Given the description of an element on the screen output the (x, y) to click on. 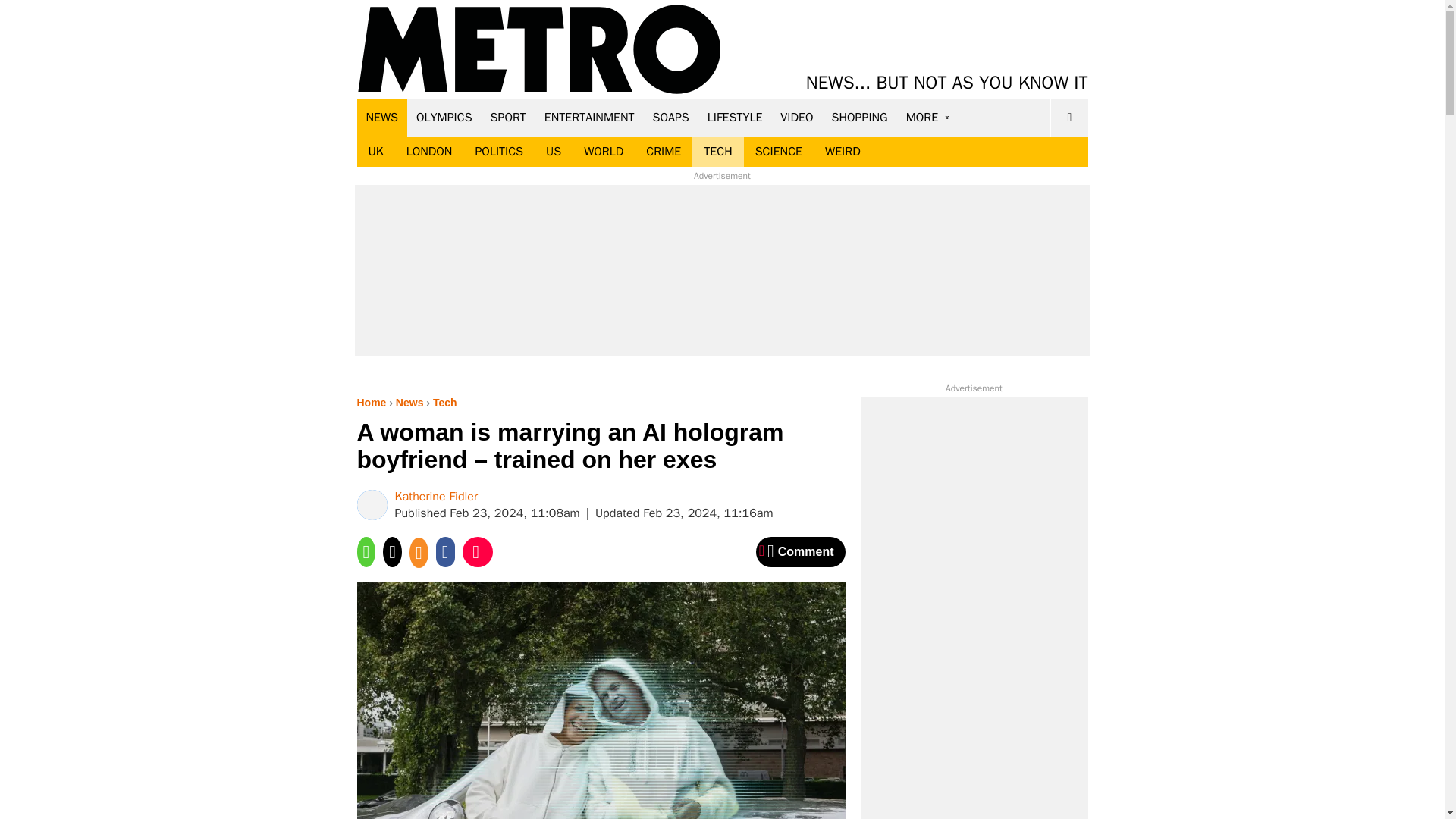
WEIRD (842, 151)
SPORT (508, 117)
LONDON (429, 151)
SOAPS (670, 117)
Metro (539, 50)
POLITICS (498, 151)
CRIME (663, 151)
UK (375, 151)
ENTERTAINMENT (589, 117)
NEWS (381, 117)
LIFESTYLE (734, 117)
WORLD (603, 151)
TECH (717, 151)
SCIENCE (778, 151)
OLYMPICS (444, 117)
